Given the description of an element on the screen output the (x, y) to click on. 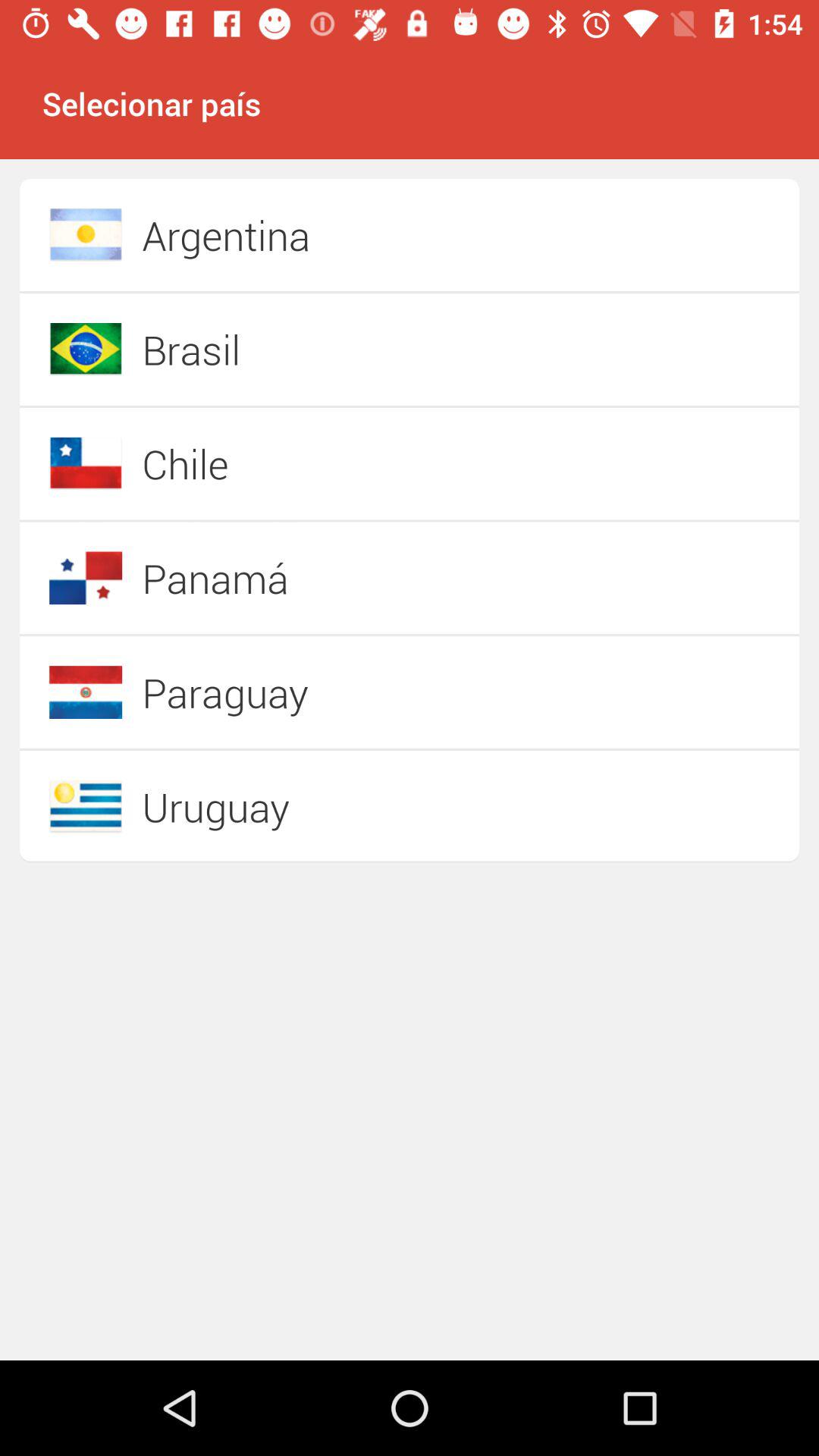
scroll until uruguay (356, 806)
